Given the description of an element on the screen output the (x, y) to click on. 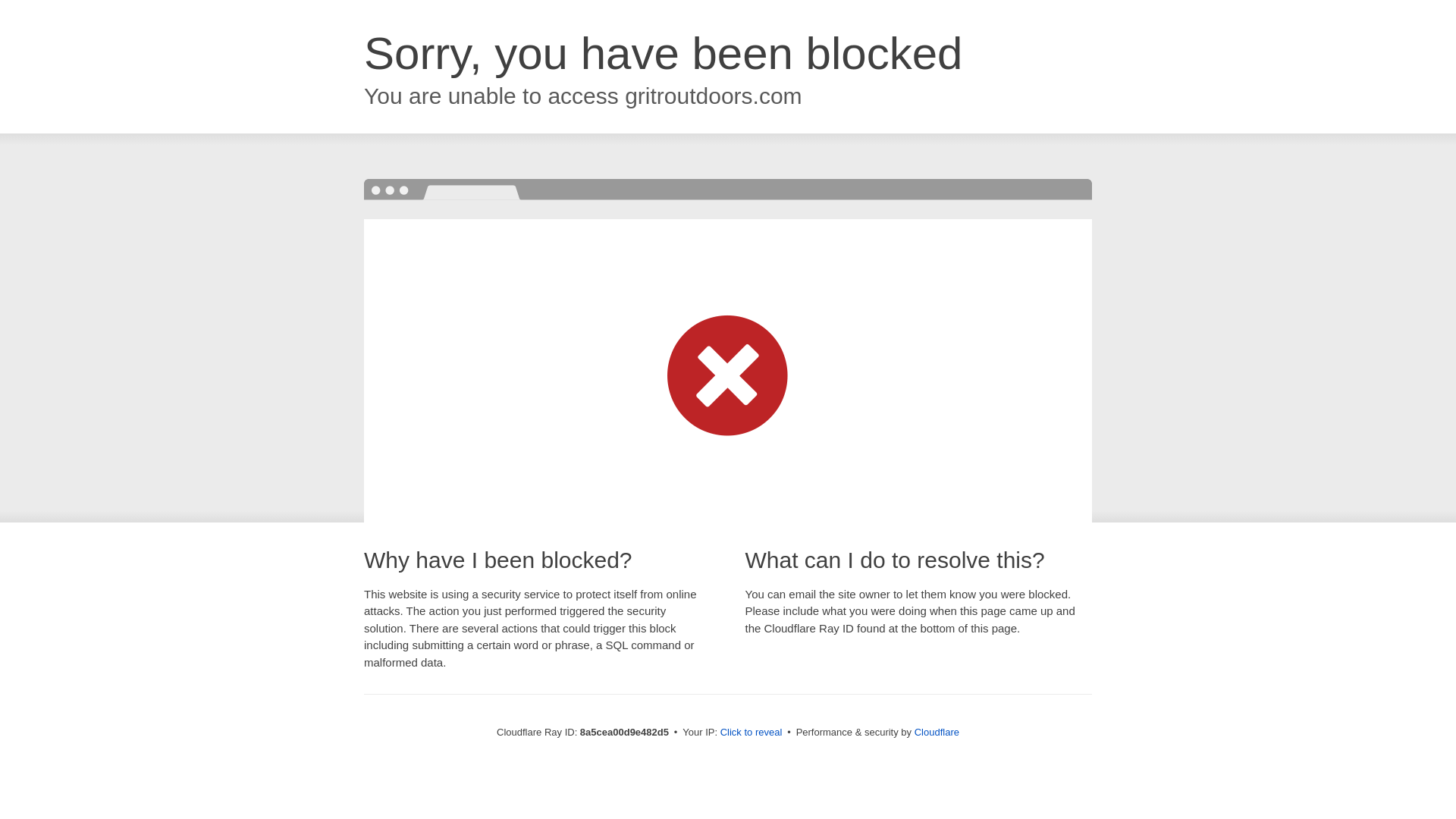
Click to reveal (751, 732)
Cloudflare (936, 731)
